Given the description of an element on the screen output the (x, y) to click on. 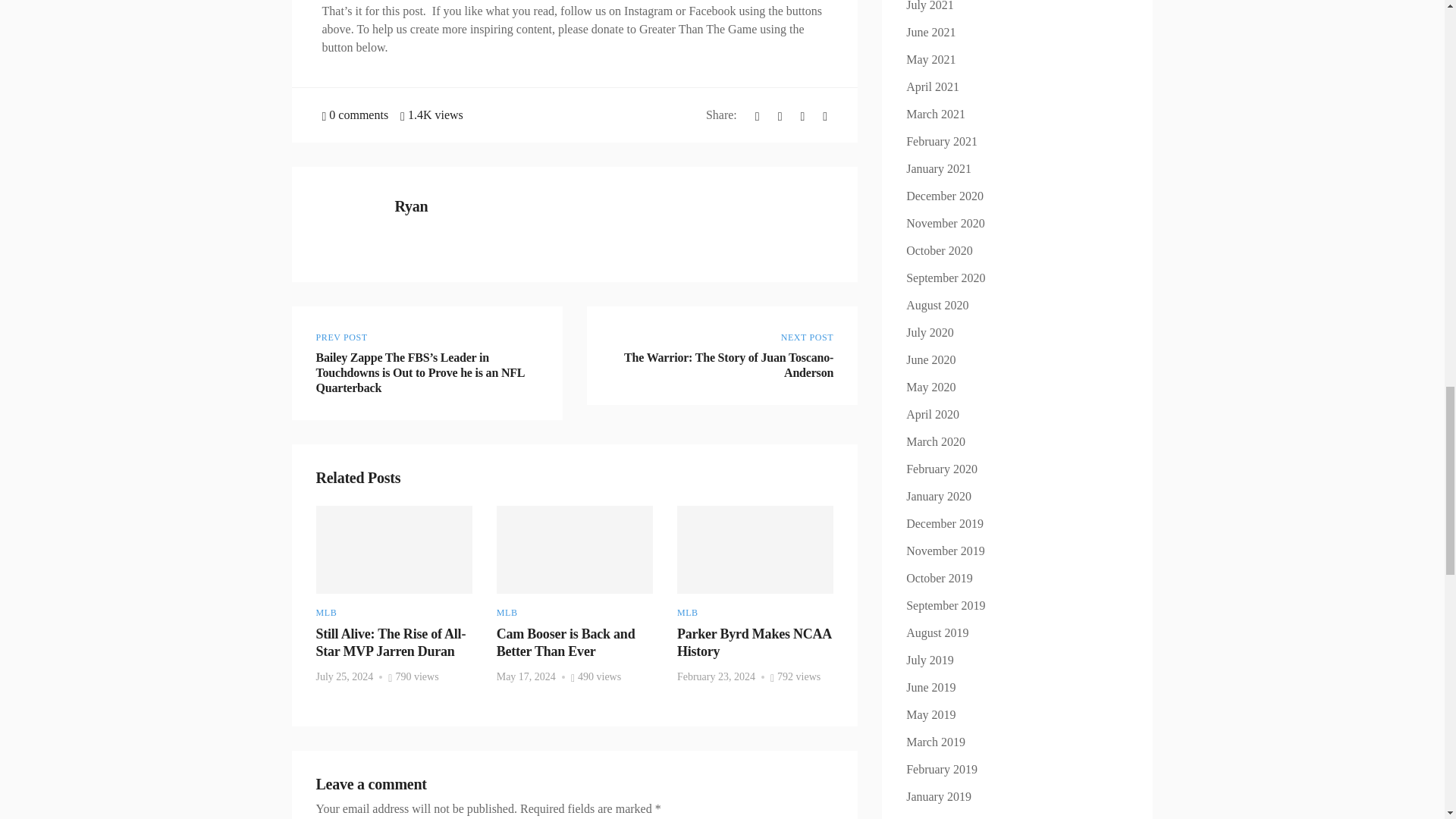
MLB (325, 612)
Ryan (721, 355)
0 comments (411, 206)
